Given the description of an element on the screen output the (x, y) to click on. 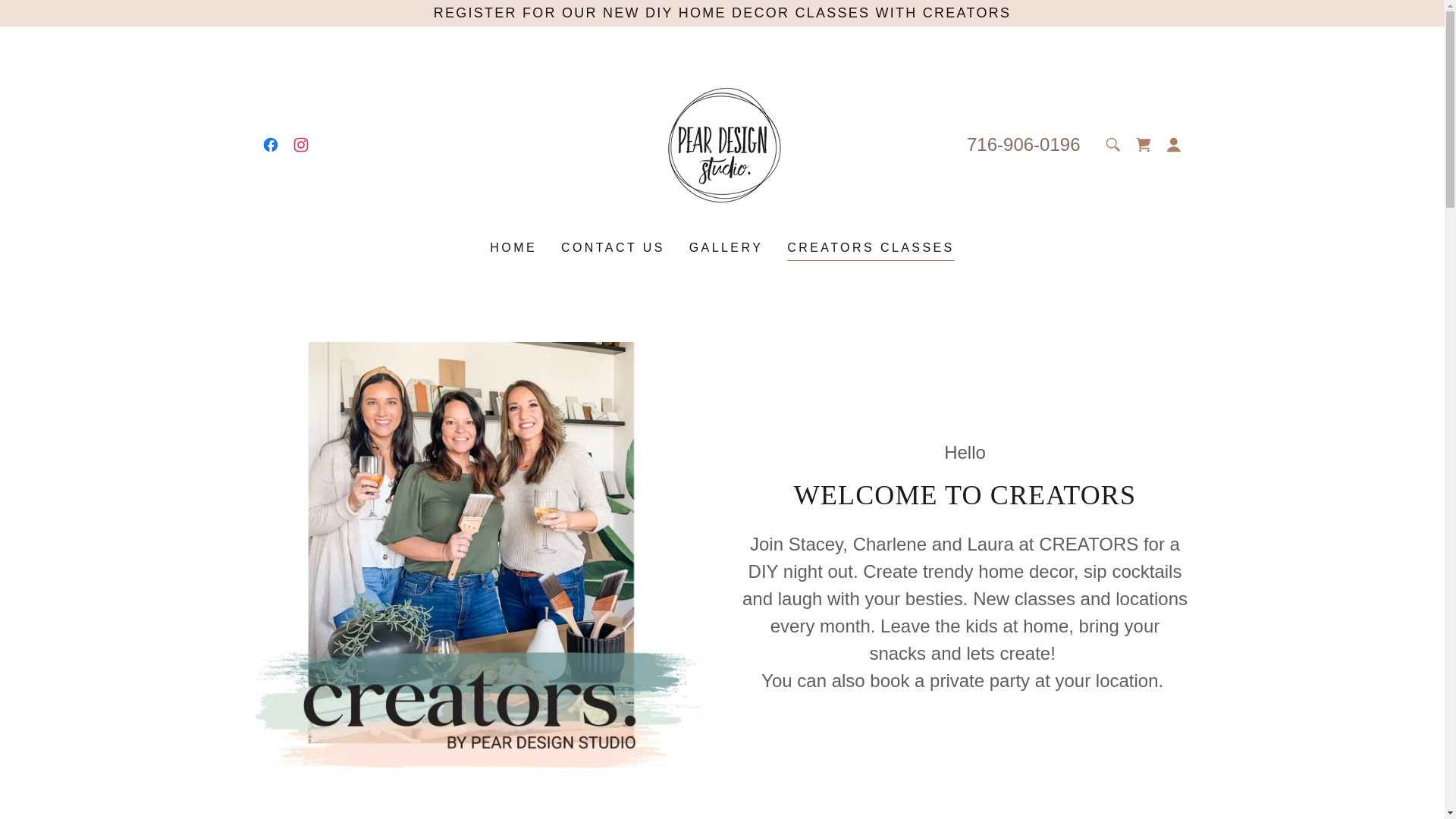
CONTACT US (612, 247)
HOME (512, 247)
GALLERY (726, 247)
CREATORS CLASSES (870, 250)
Pear Design Studio (721, 143)
716-906-0196 (1023, 144)
